Given the description of an element on the screen output the (x, y) to click on. 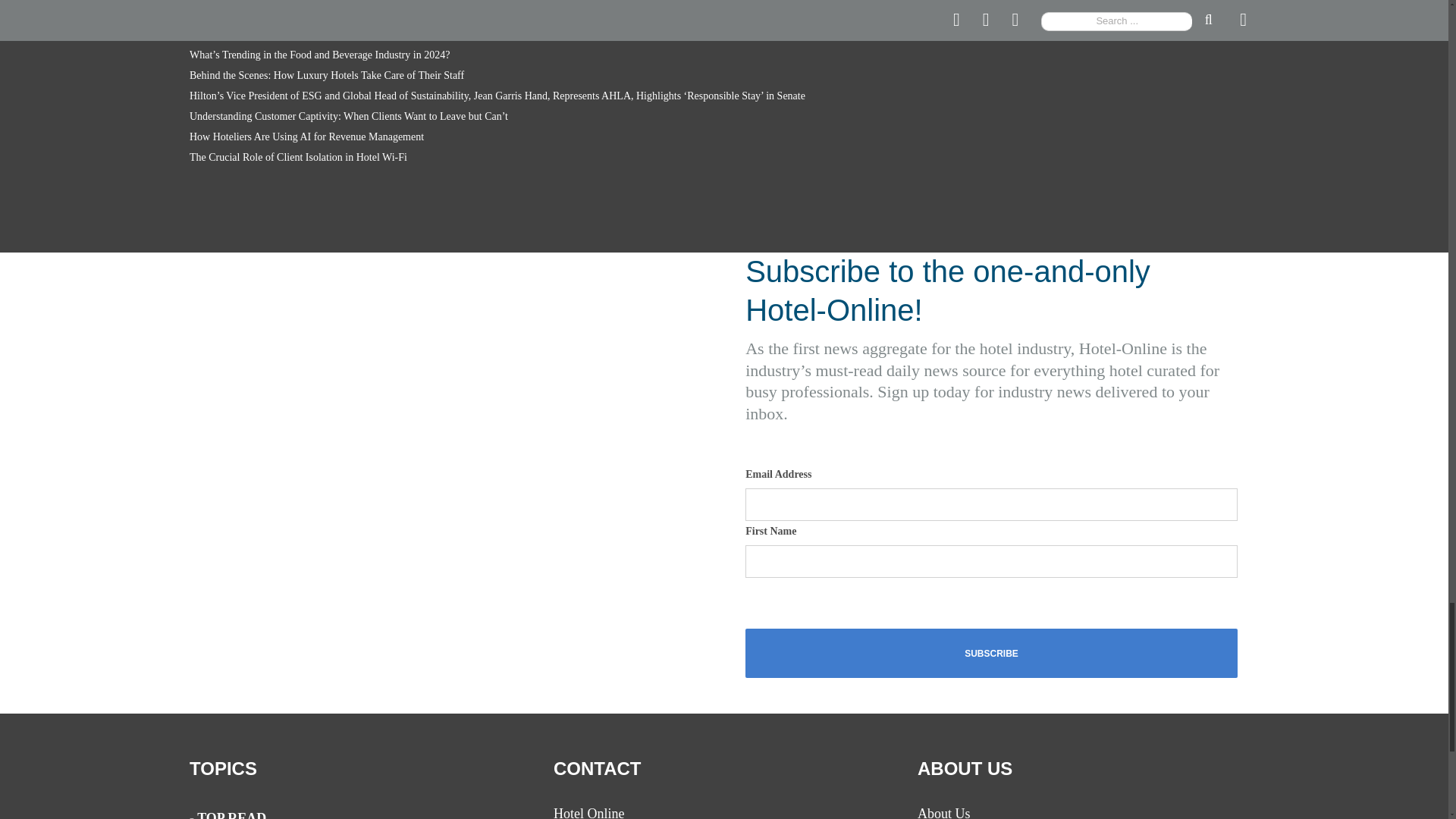
SUbscribe (991, 653)
